Given the description of an element on the screen output the (x, y) to click on. 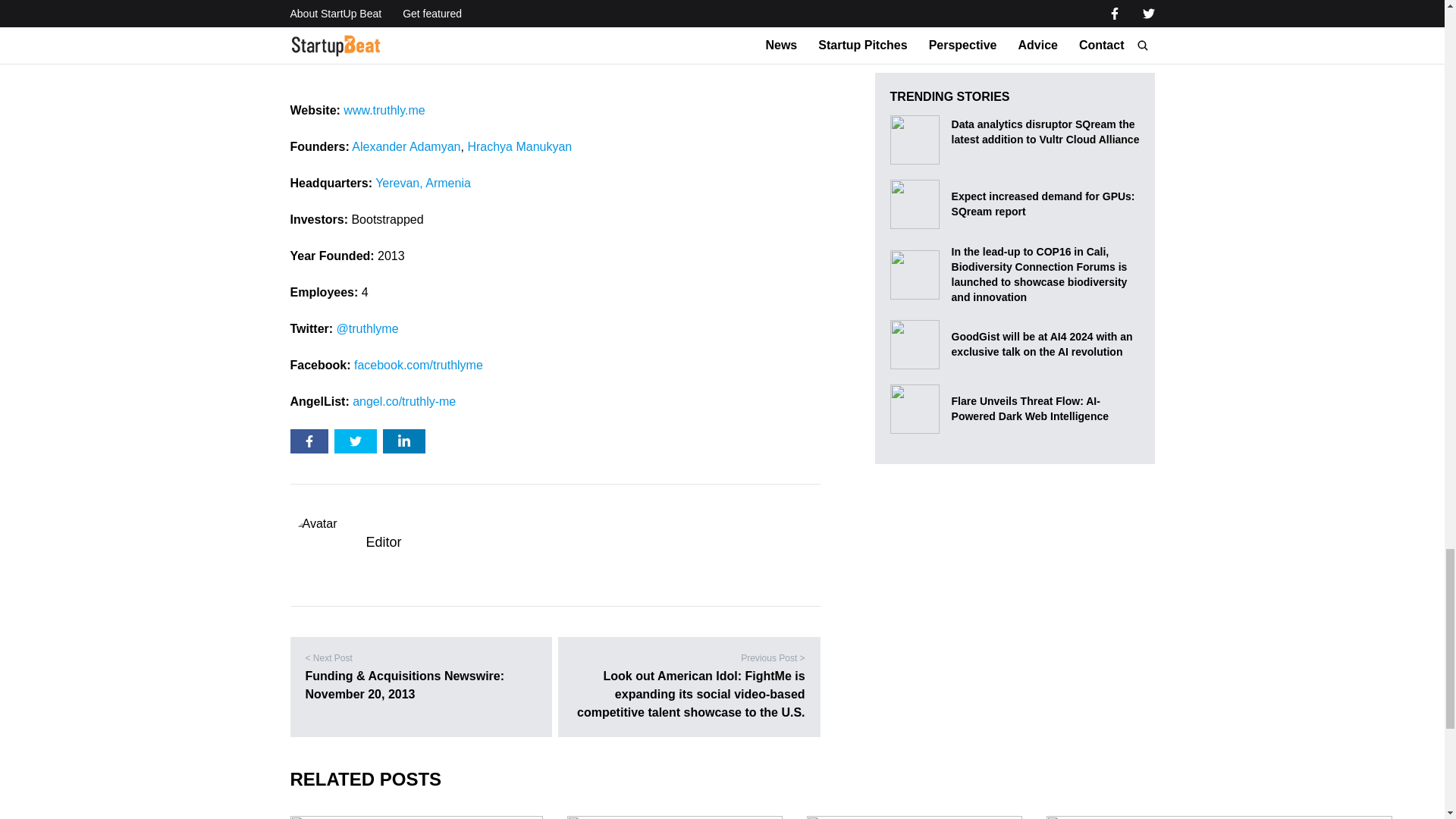
Hrachya Manukyan (519, 146)
www.truthly.me (384, 110)
Yerevan, Armenia (422, 182)
Alexander Adamyan (406, 146)
Editor (383, 541)
